Given the description of an element on the screen output the (x, y) to click on. 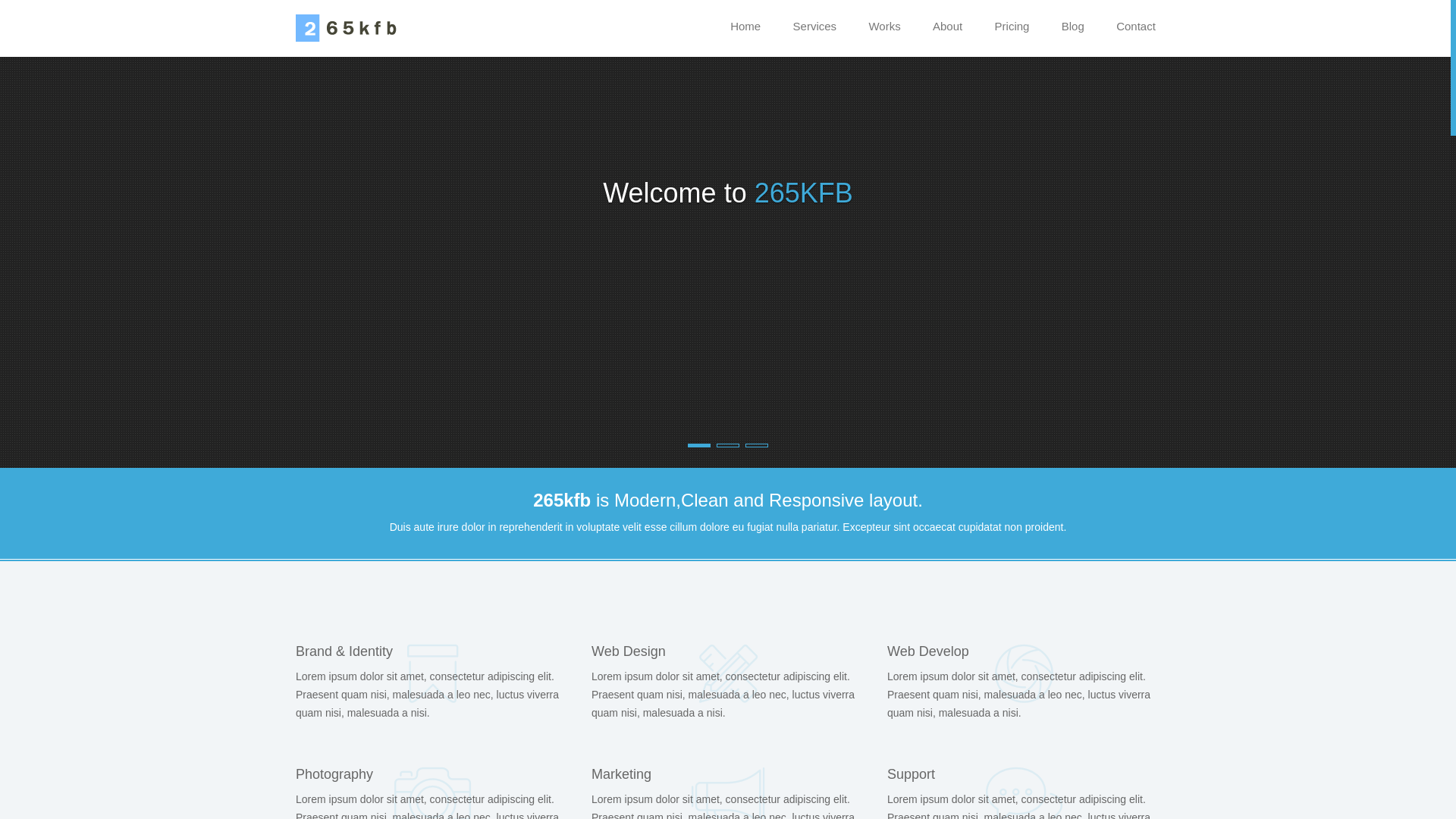
Pricing Element type: text (1011, 26)
Blog Element type: text (1072, 26)
Home Element type: text (745, 26)
About Element type: text (947, 26)
Services Element type: text (814, 26)
Works Element type: text (884, 26)
Contact Element type: text (1135, 26)
